Given the description of an element on the screen output the (x, y) to click on. 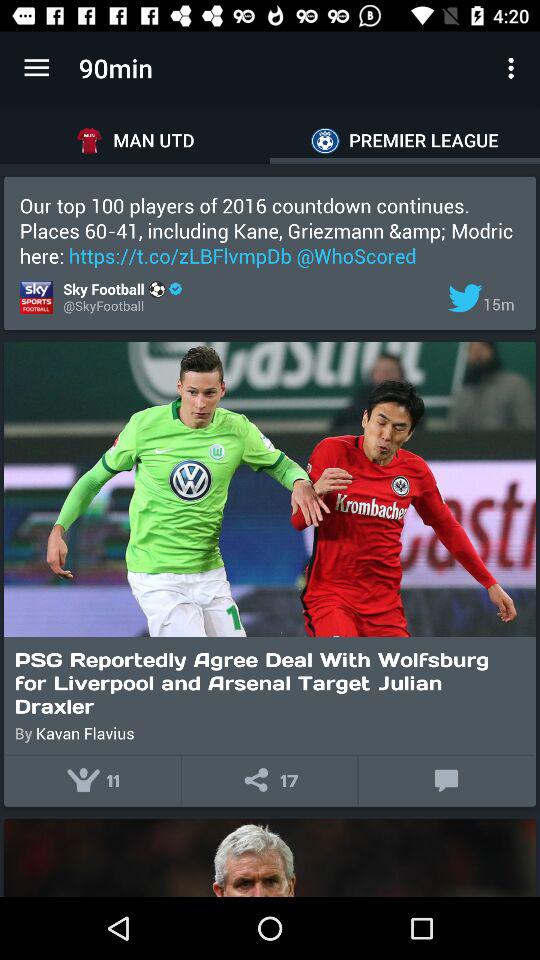
open the item to the left of the 90min item (36, 68)
